Given the description of an element on the screen output the (x, y) to click on. 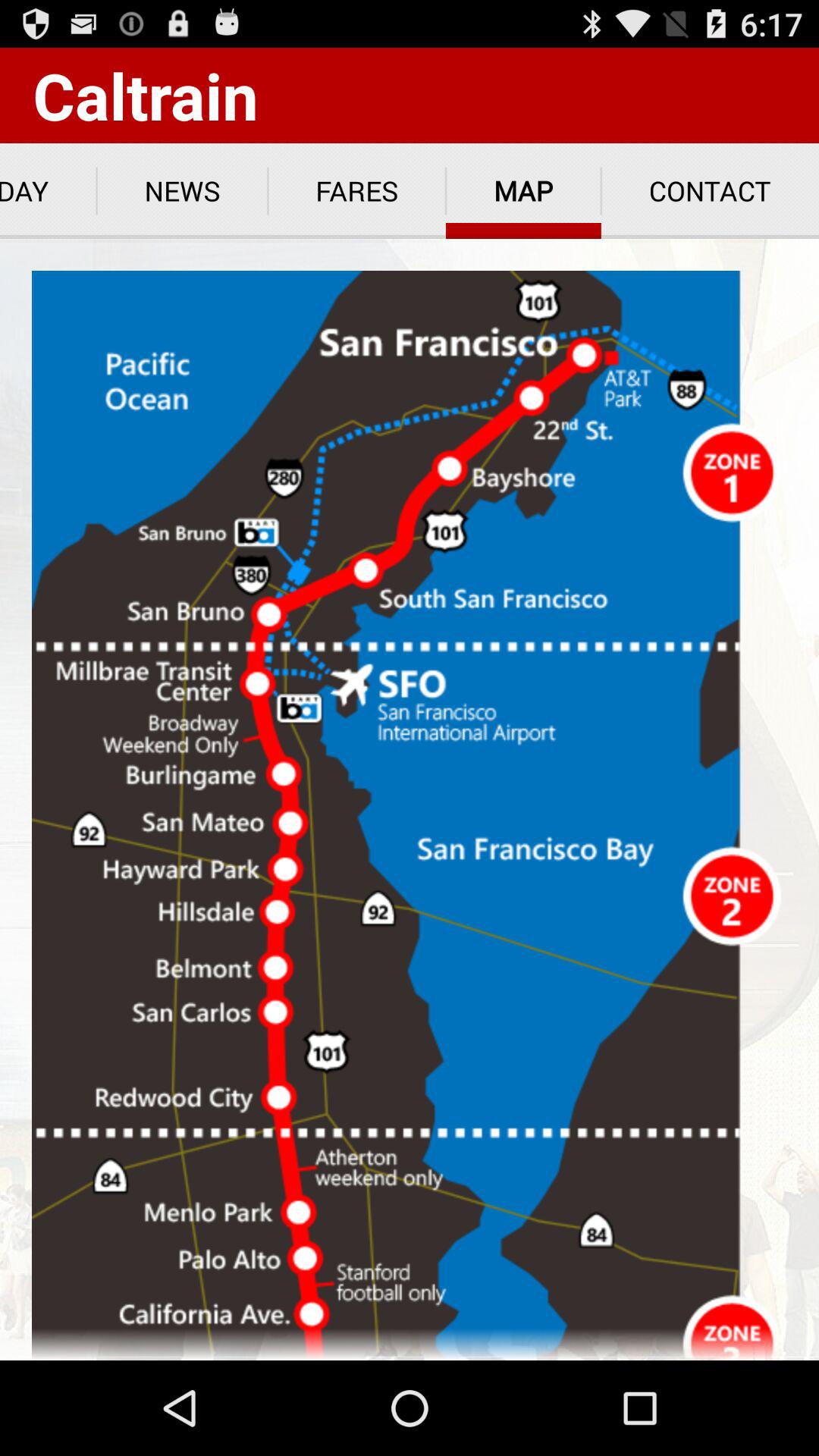
click icon to the left of the fares item (181, 190)
